Given the description of an element on the screen output the (x, y) to click on. 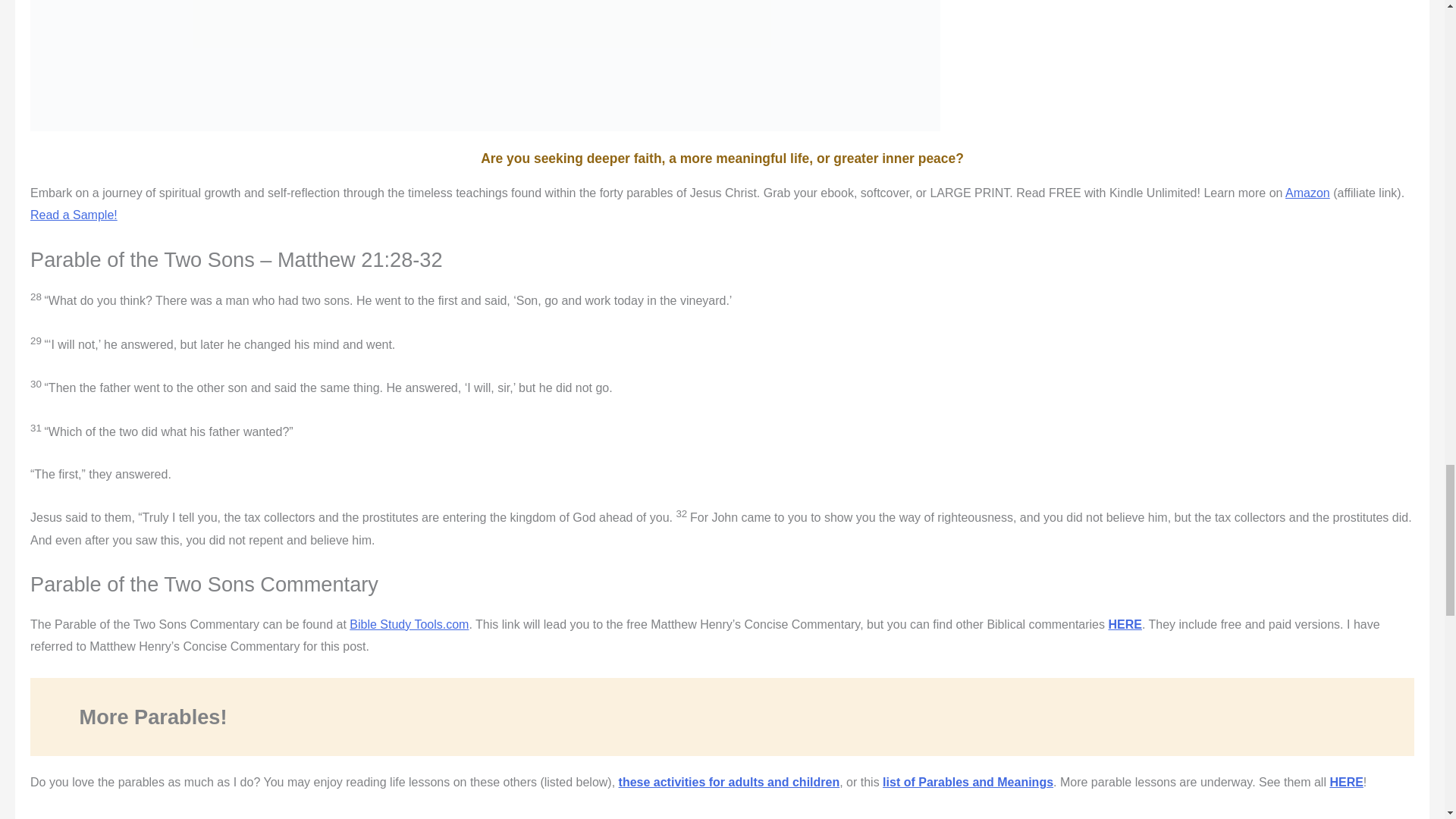
Amazon (1307, 192)
HERE (1345, 781)
list of Parables and Meanings (967, 781)
HERE (1124, 624)
these activities for adults and children (729, 781)
Bible Study Tools.com (408, 624)
Read a Sample! (73, 214)
